Given the description of an element on the screen output the (x, y) to click on. 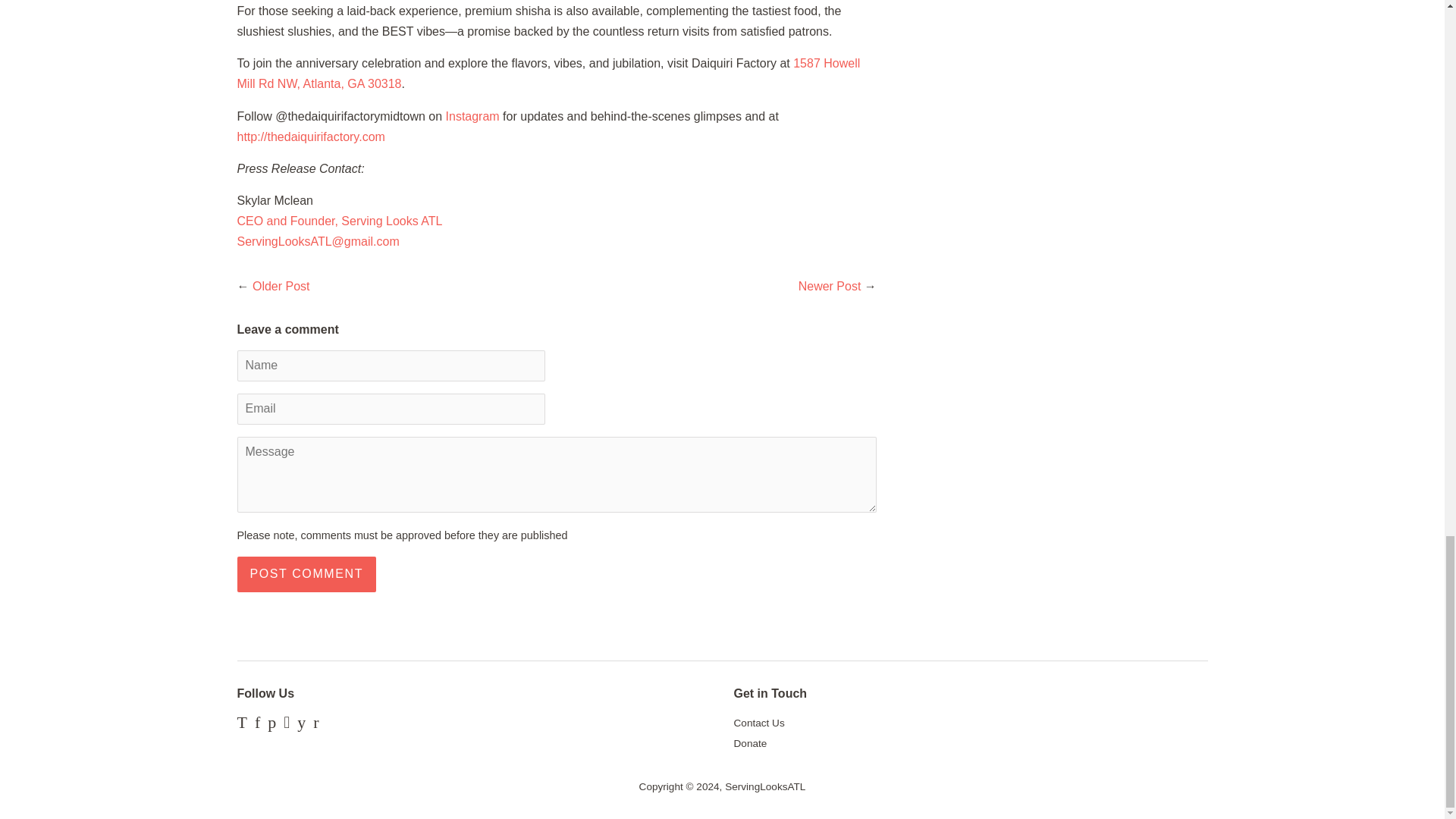
Instagram (472, 115)
Post comment (305, 574)
CEO and Founder, Serving Looks ATL (338, 220)
Older Post (280, 286)
1587 Howell Mill Rd NW, Atlanta, GA 30318 (547, 73)
Newer Post (829, 286)
